Given the description of an element on the screen output the (x, y) to click on. 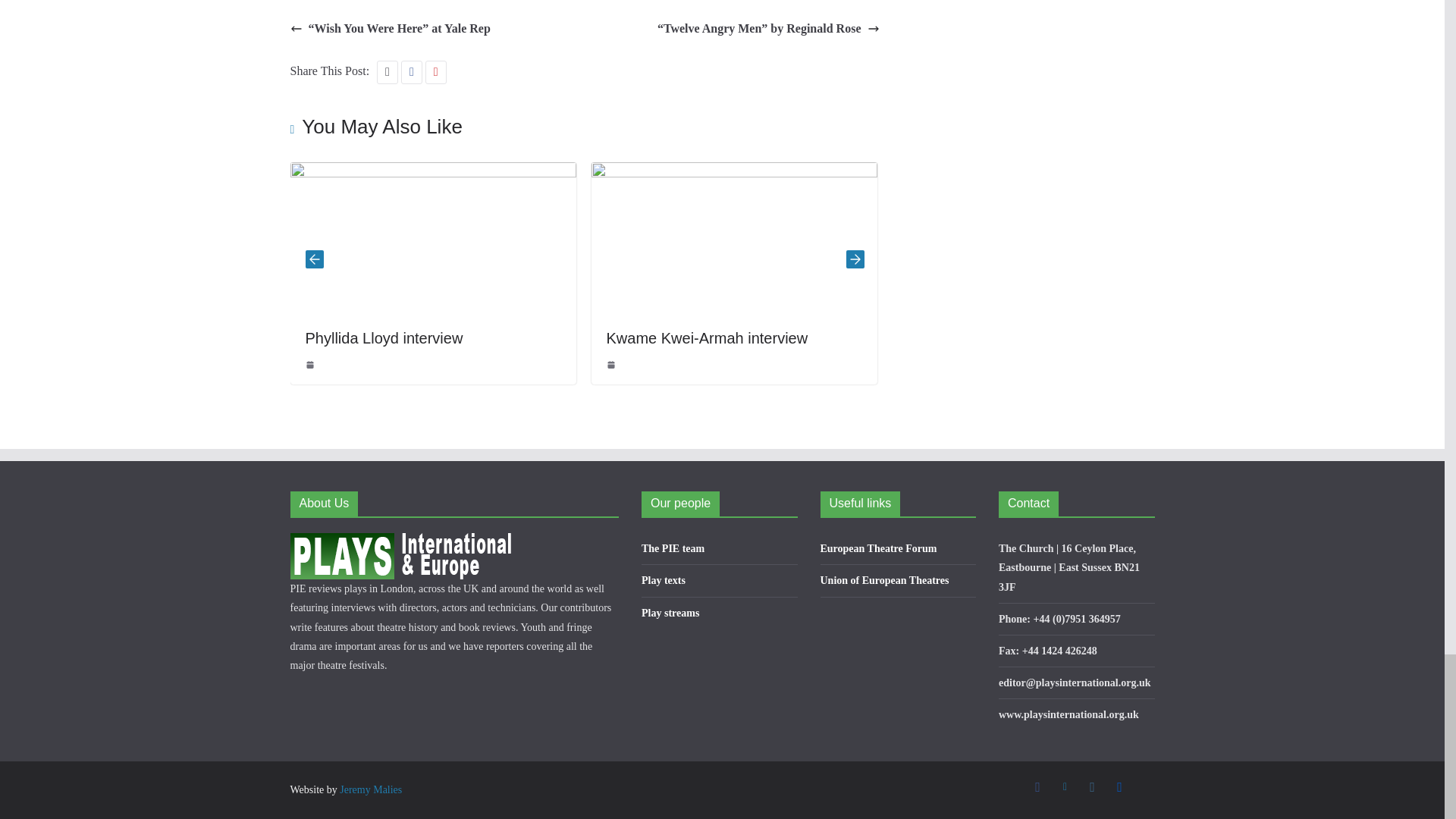
Phyllida Lloyd interview (383, 337)
